Given the description of an element on the screen output the (x, y) to click on. 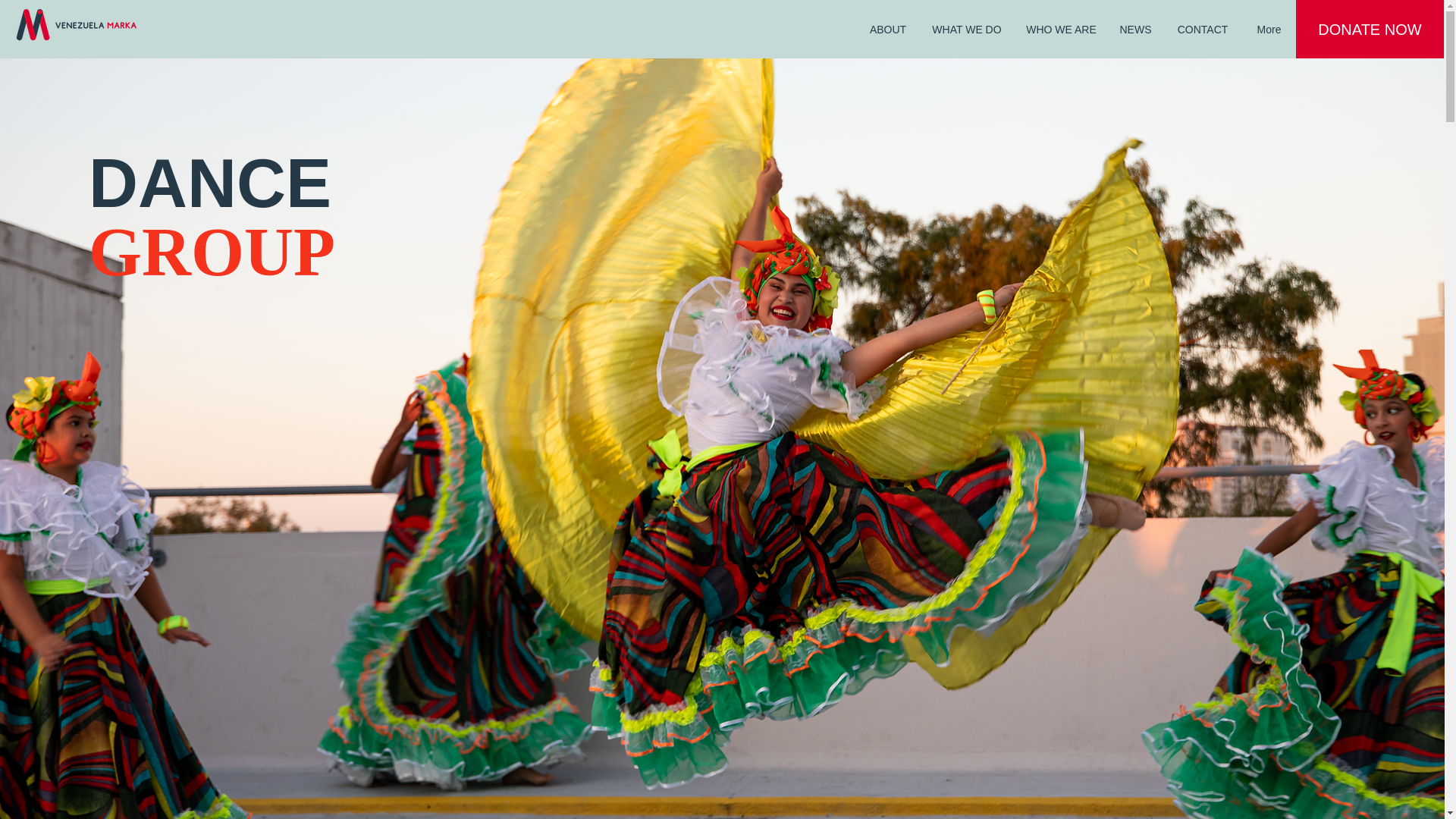
WHAT WE DO (966, 29)
WHO WE ARE (1061, 29)
ABOUT (887, 29)
CONTACT (1202, 29)
DONATE NOW (1369, 29)
NEWS (1135, 29)
